Given the description of an element on the screen output the (x, y) to click on. 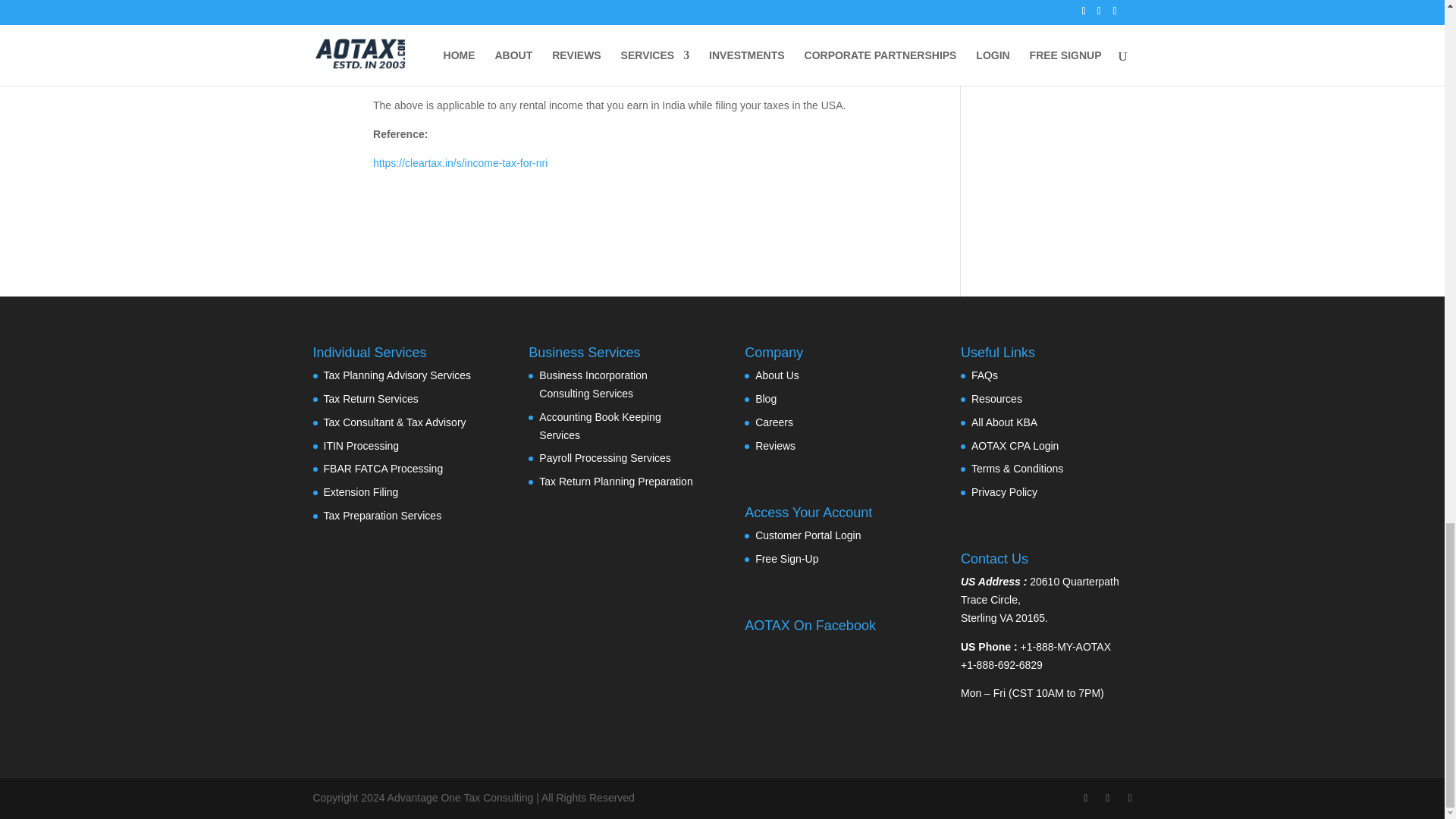
careers (774, 422)
